Given the description of an element on the screen output the (x, y) to click on. 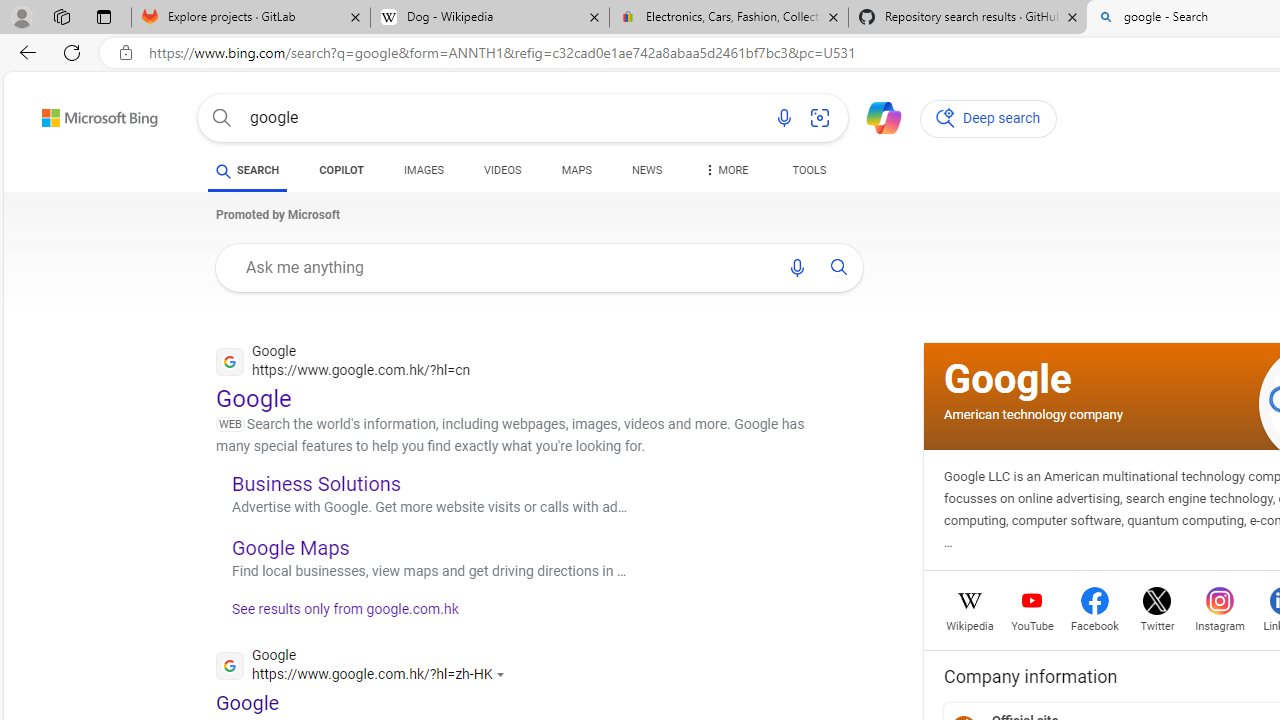
Business Solutions (316, 483)
MAPS (576, 170)
COPILOT (341, 173)
Ask me anything (502, 267)
Chat (875, 116)
SEARCH (247, 170)
Search using an image (820, 117)
Search using voice (797, 267)
Instagram (1219, 624)
